Given the description of an element on the screen output the (x, y) to click on. 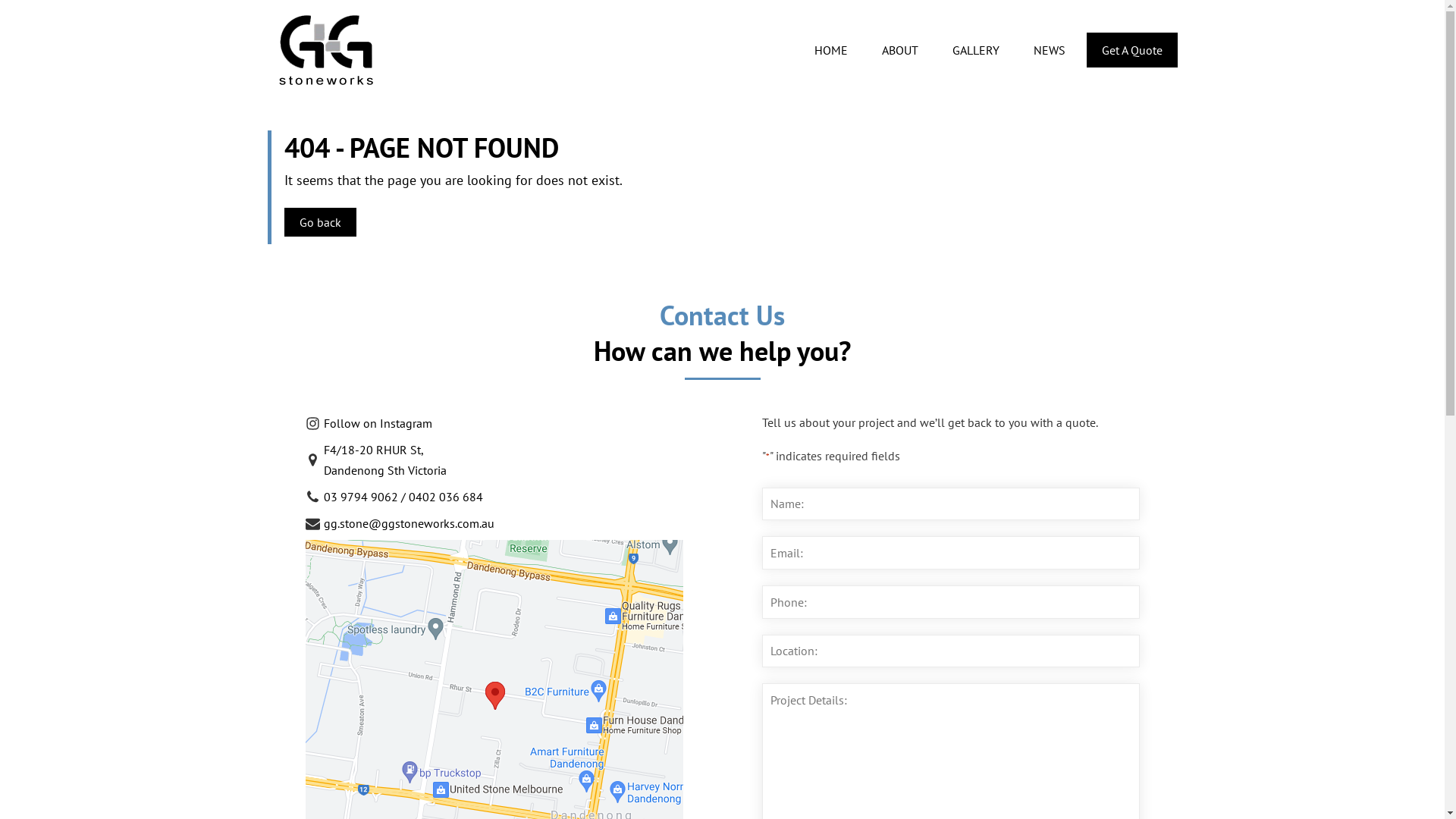
gg.stone@ggstoneworks.com.au Element type: text (398, 526)
Get A Quote Element type: text (1130, 49)
HOME Element type: text (831, 49)
0402 036 684 Element type: text (444, 496)
NEWS Element type: text (1049, 49)
Follow on Instagram Element type: text (367, 426)
ABOUT Element type: text (900, 49)
GALLERY Element type: text (975, 49)
Go back Element type: text (319, 221)
03 9794 9062 Element type: text (360, 496)
